Given the description of an element on the screen output the (x, y) to click on. 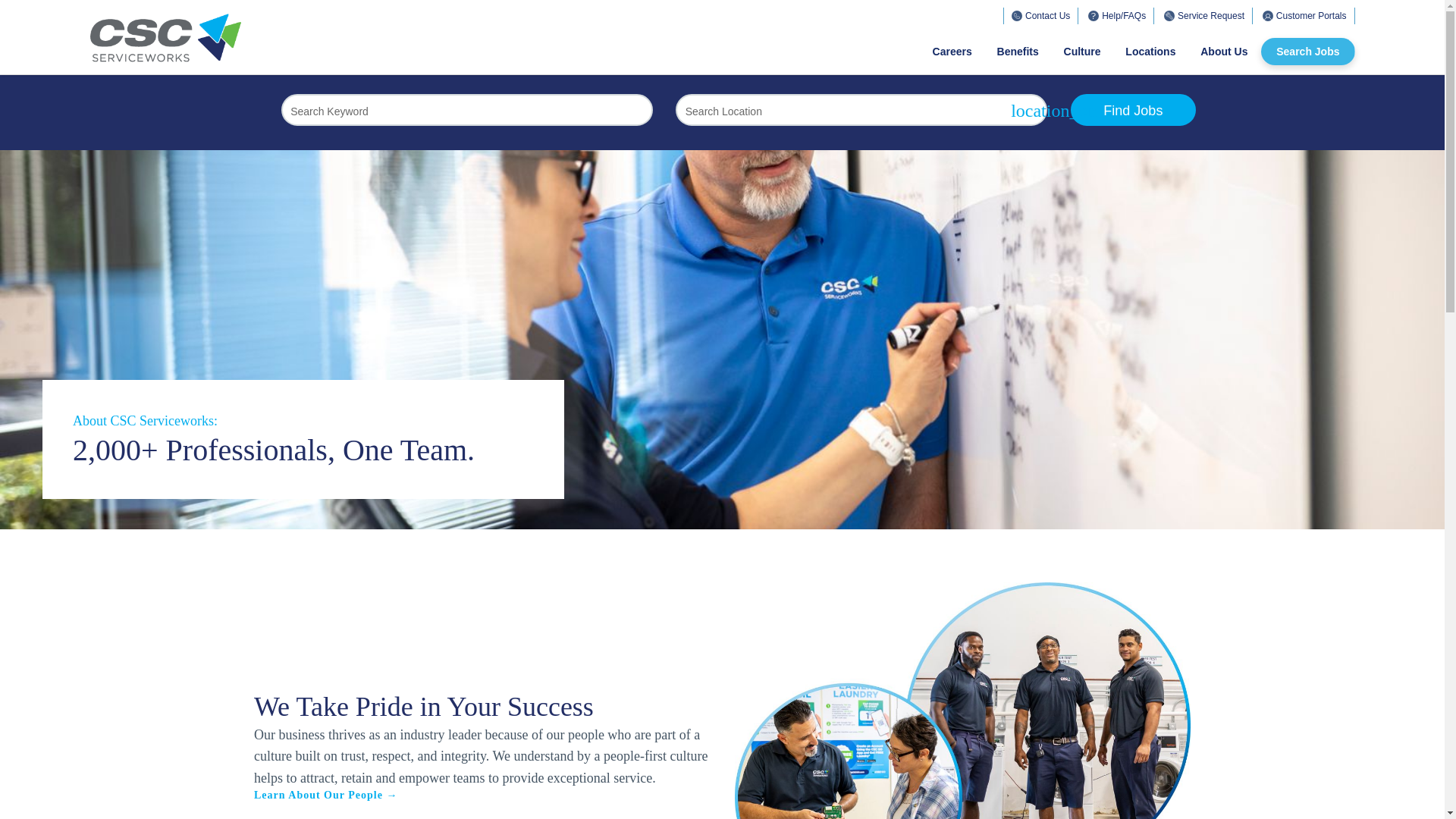
Customer Portals (1305, 15)
Culture (1082, 51)
Contact Us (1041, 15)
Benefits (1017, 51)
Locations (1149, 51)
About Us (1224, 51)
Careers (958, 51)
Find Jobs (1132, 110)
Search Jobs (1307, 51)
Service Request (1204, 15)
